Given the description of an element on the screen output the (x, y) to click on. 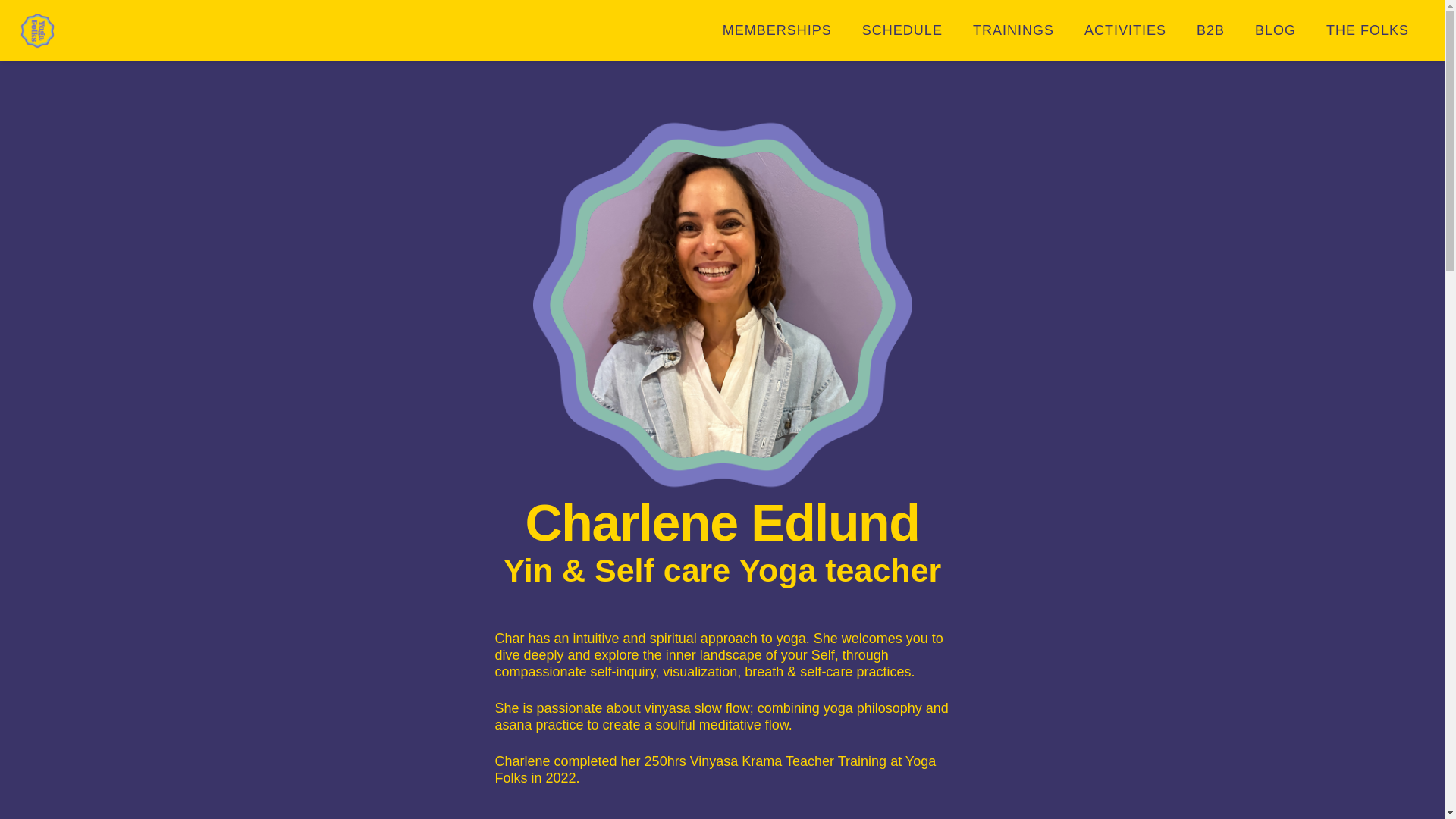
ACTIVITIES (1124, 30)
MEMBERSHIPS (777, 30)
TRAININGS (1013, 30)
SCHEDULE (902, 30)
THE FOLKS (1367, 30)
BLOG (1275, 30)
B2B (1210, 30)
